Given the description of an element on the screen output the (x, y) to click on. 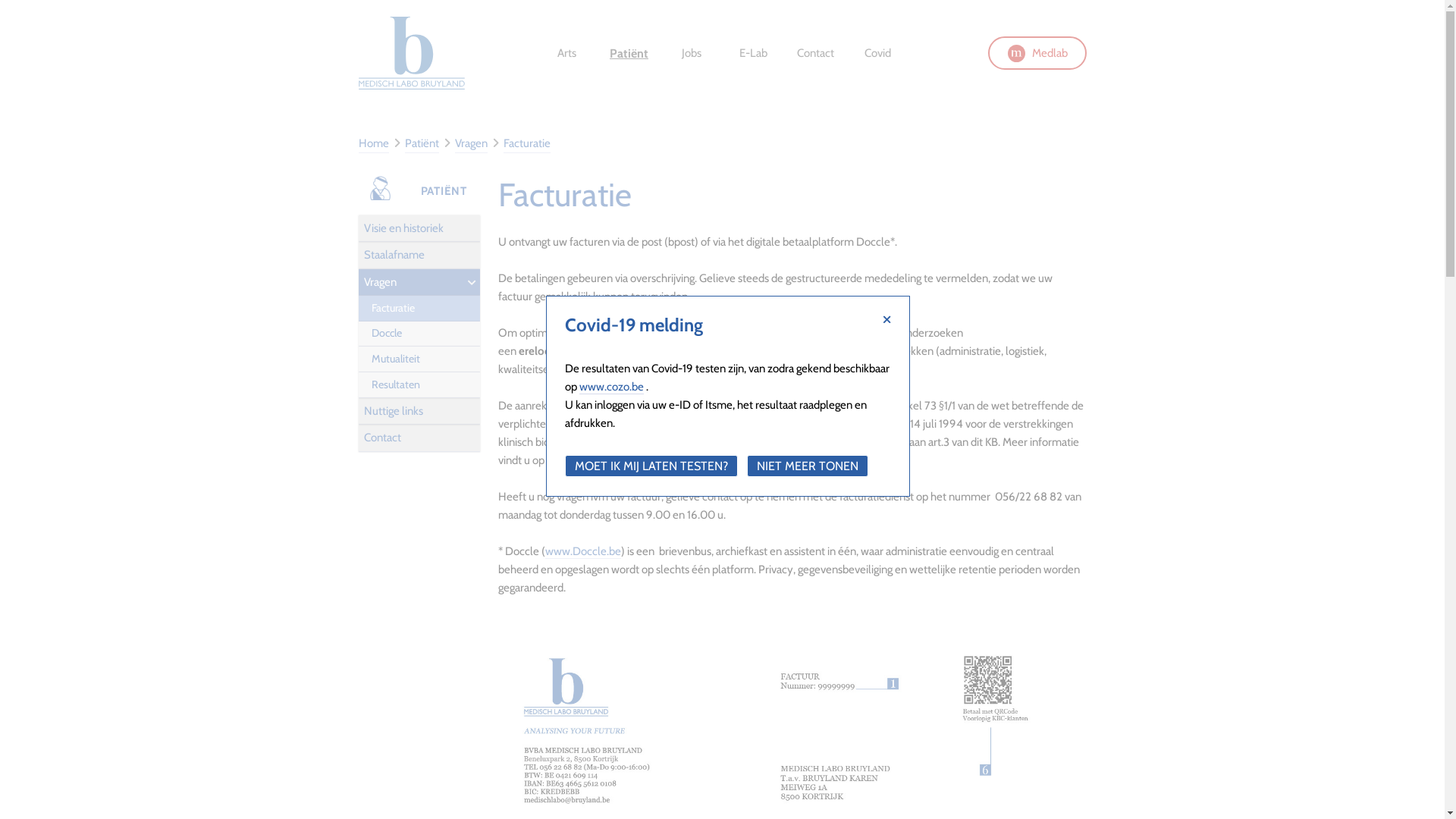
Resultaten Element type: text (418, 385)
Mutualiteit Element type: text (418, 359)
MOET IK MIJ LATEN TESTEN? Element type: text (650, 465)
Contact Element type: text (815, 53)
Doccle Element type: text (418, 334)
www.Doccle.be Element type: text (582, 551)
Vragen Element type: text (418, 281)
Facturatie Element type: text (526, 143)
www.cozo.be Element type: text (611, 386)
Vragen Element type: text (471, 143)
Bruyland Element type: hover (410, 53)
Visie en historiek Element type: text (418, 228)
Jobs Element type: text (690, 53)
NIET MEER TONEN Element type: text (807, 465)
Medlab Element type: text (1036, 52)
Home Element type: text (372, 143)
Staalafname Element type: text (418, 255)
Arts Element type: text (566, 53)
Covid Element type: text (877, 53)
Nuttige links Element type: text (418, 411)
Contact Element type: text (418, 437)
E-Lab Element type: text (753, 53)
Facturatie Element type: text (418, 308)
http://www.fvkl.be Element type: text (778, 460)
Facturatie Element type: hover (379, 187)
